Given the description of an element on the screen output the (x, y) to click on. 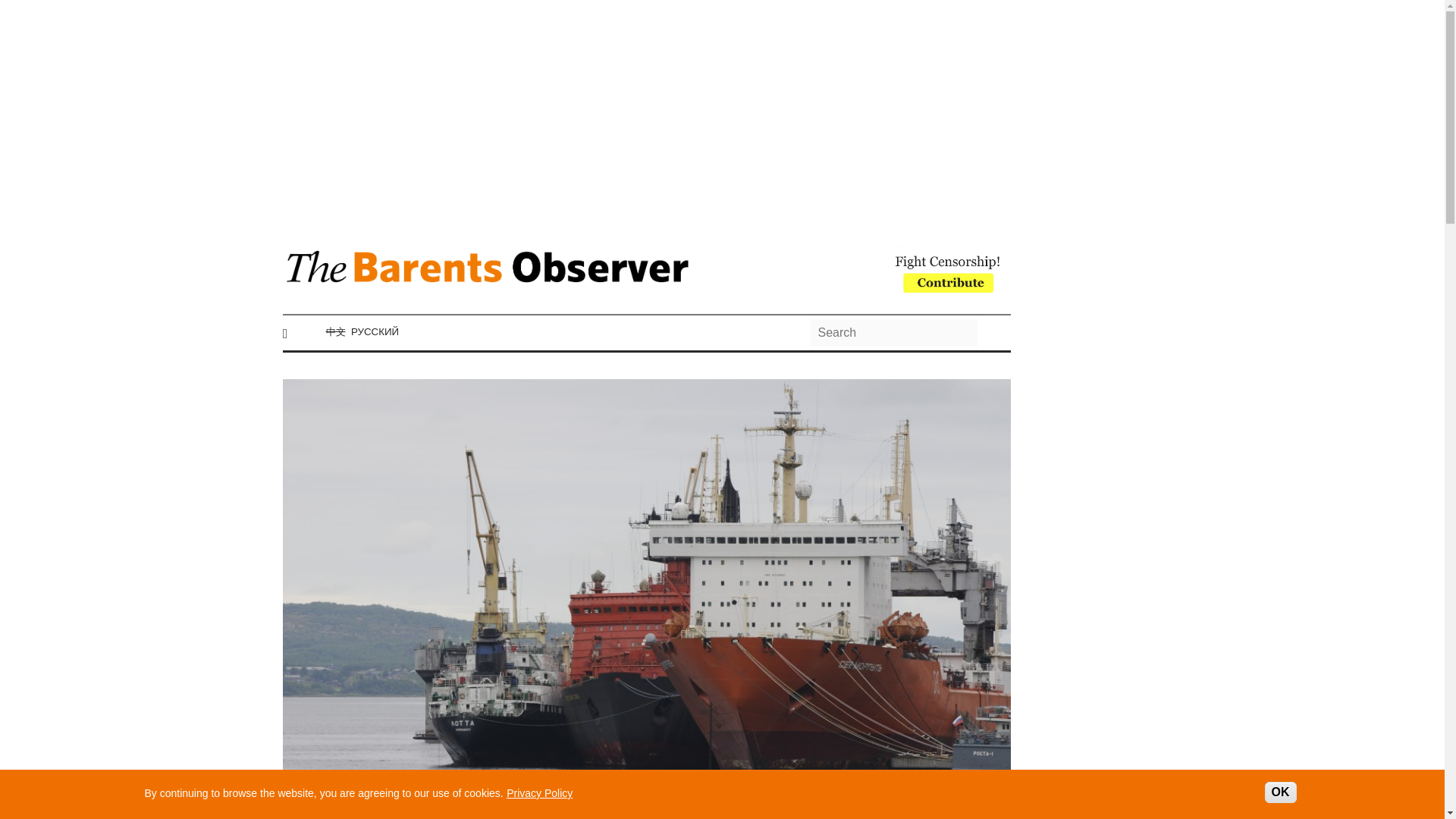
Home (486, 274)
Apply (993, 332)
Apply (993, 332)
